Given the description of an element on the screen output the (x, y) to click on. 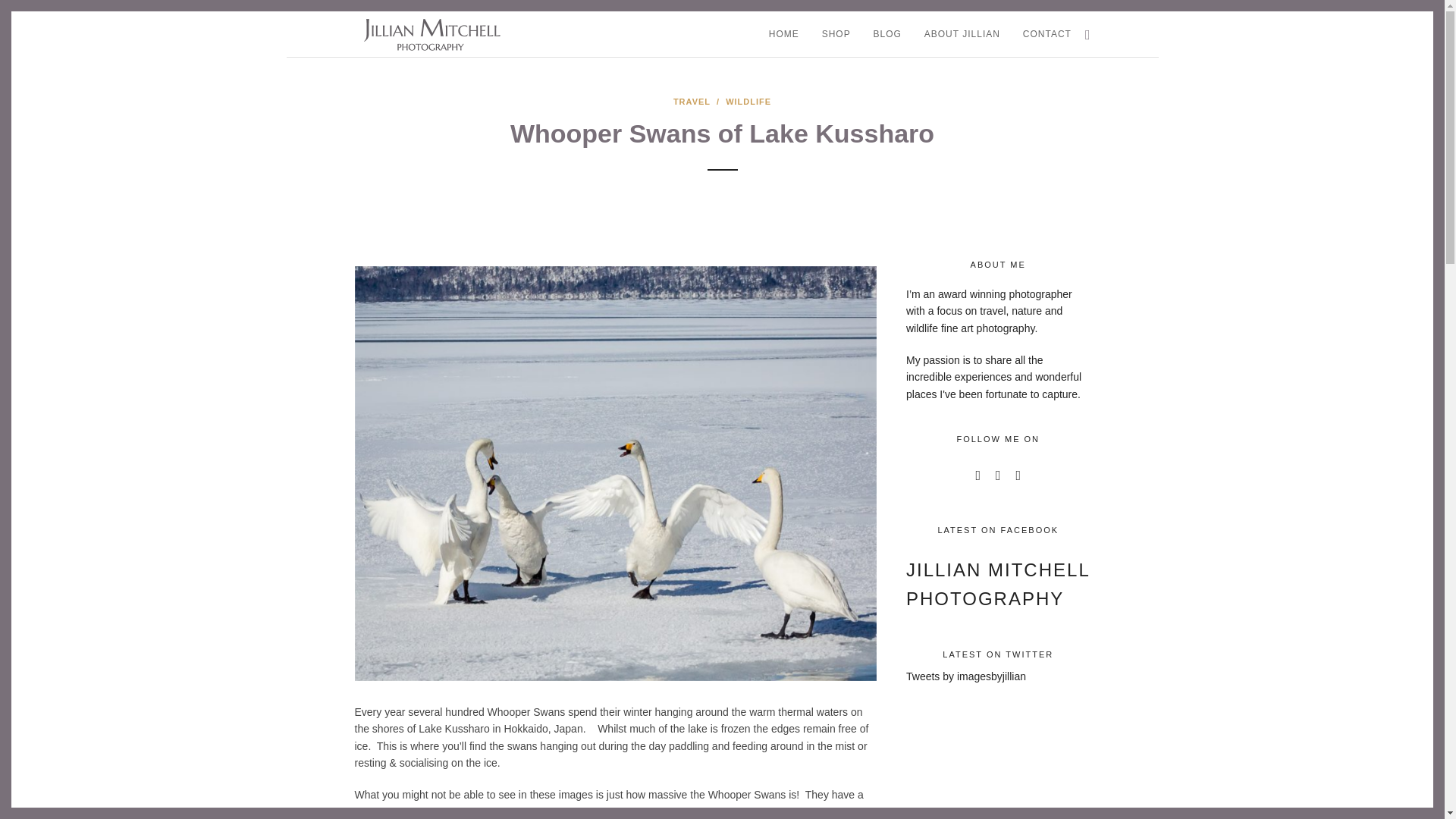
BLOG (887, 34)
WILDLIFE (748, 101)
CONTACT (1047, 34)
ABOUT JILLIAN (962, 34)
SHOP (836, 34)
TRAVEL (691, 101)
HOME (783, 34)
